Given the description of an element on the screen output the (x, y) to click on. 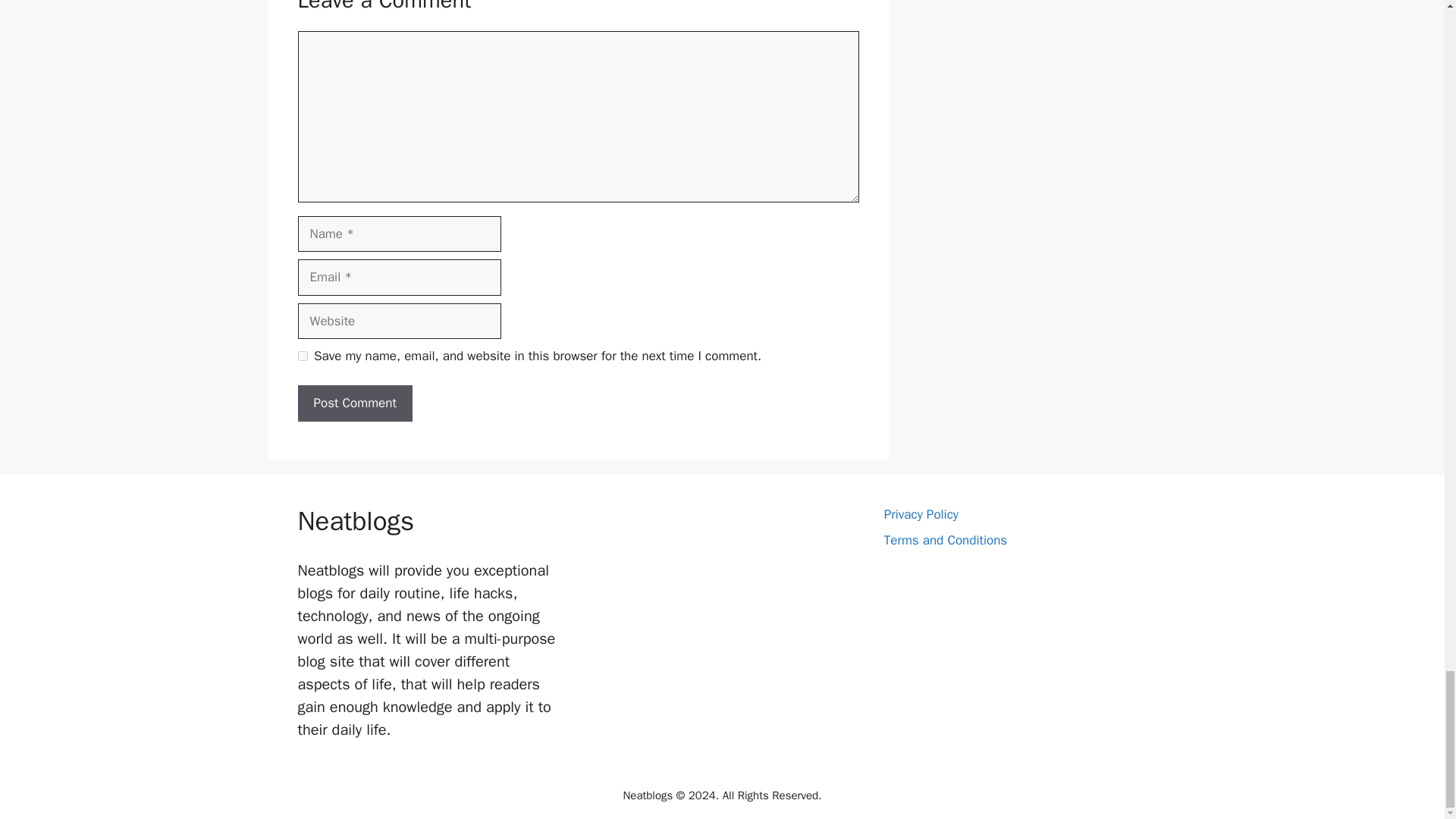
Post Comment (354, 402)
yes (302, 356)
Terms and Conditions (945, 539)
Privacy Policy (920, 514)
Post Comment (354, 402)
